Given the description of an element on the screen output the (x, y) to click on. 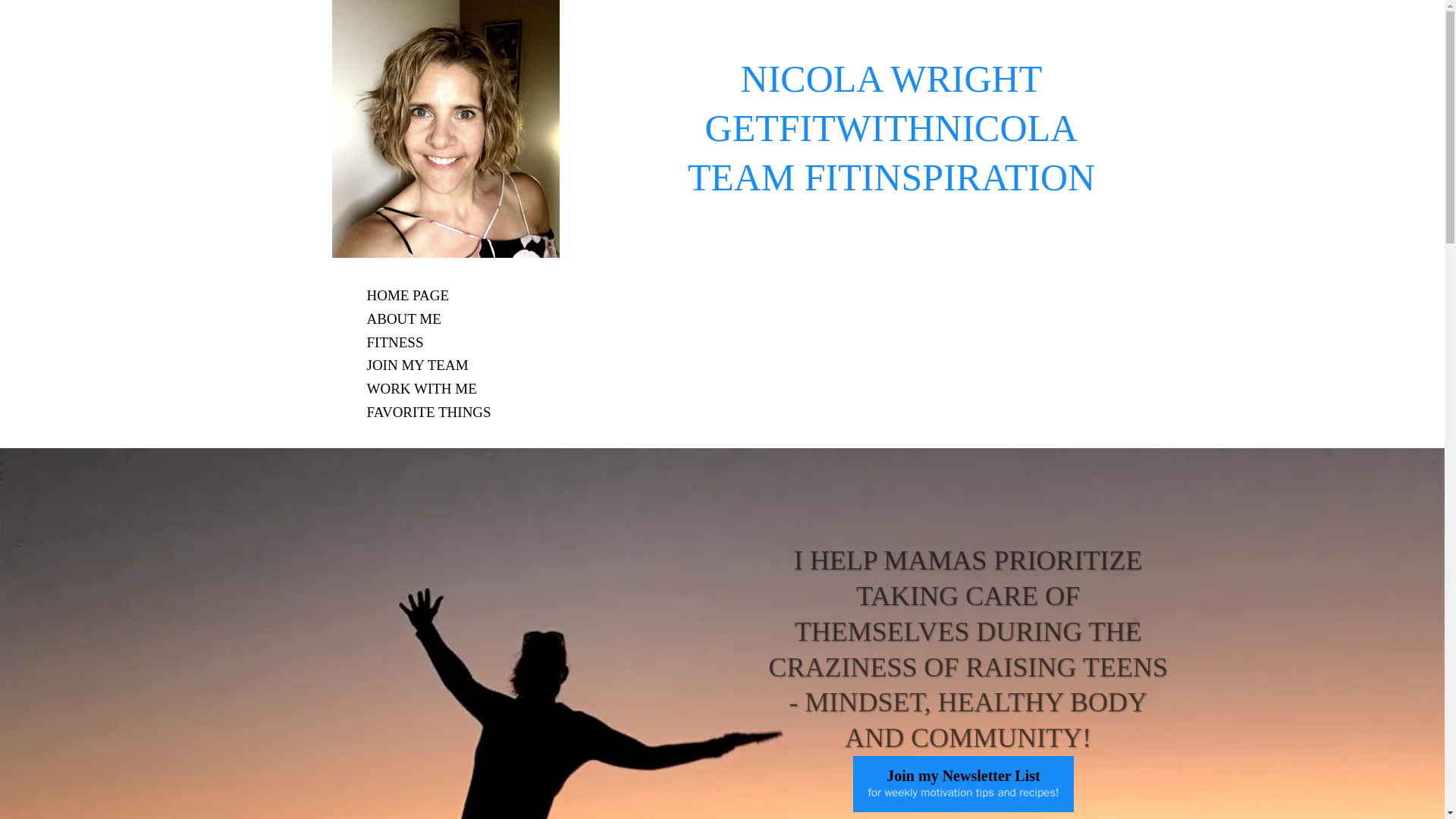
HOME PAGE (407, 295)
JOIN MY TEAM (417, 365)
ABOUT ME (403, 319)
FITNESS (394, 342)
FAVORITE THINGS (428, 413)
WORK WITH ME (421, 389)
